Given the description of an element on the screen output the (x, y) to click on. 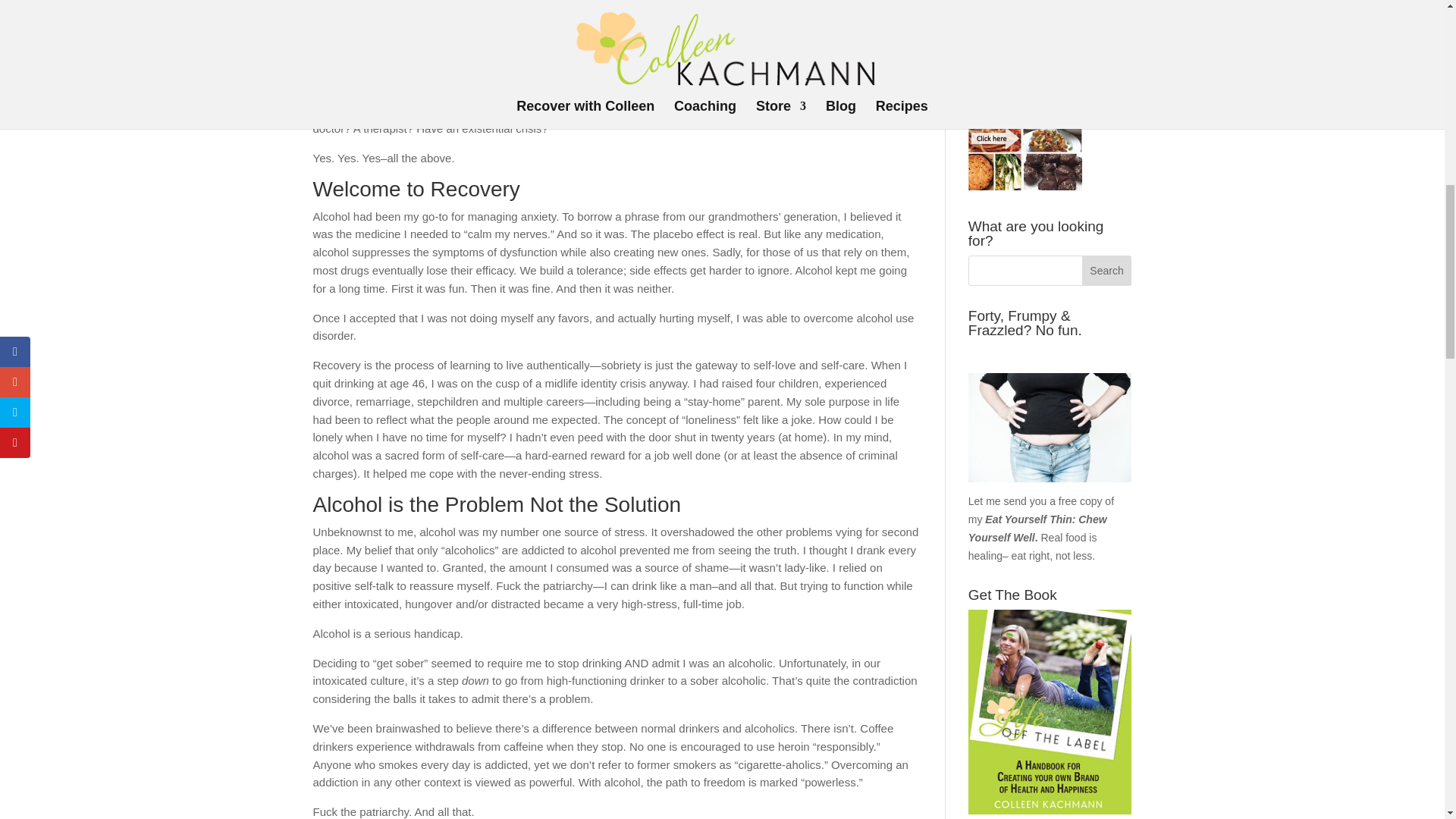
Search (1106, 270)
Search (1106, 270)
